Given the description of an element on the screen output the (x, y) to click on. 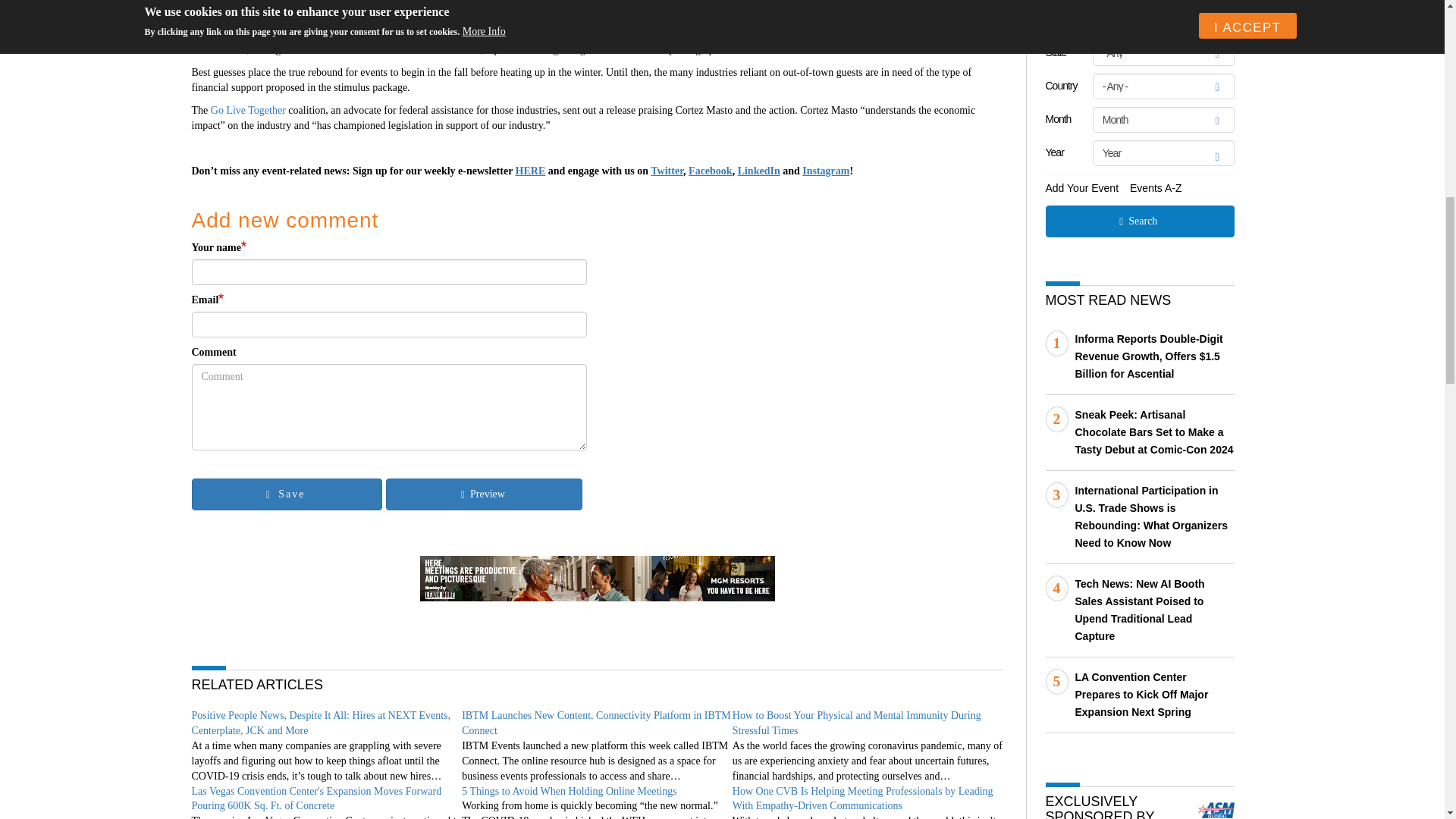
3rd party ad content (597, 590)
